Given the description of an element on the screen output the (x, y) to click on. 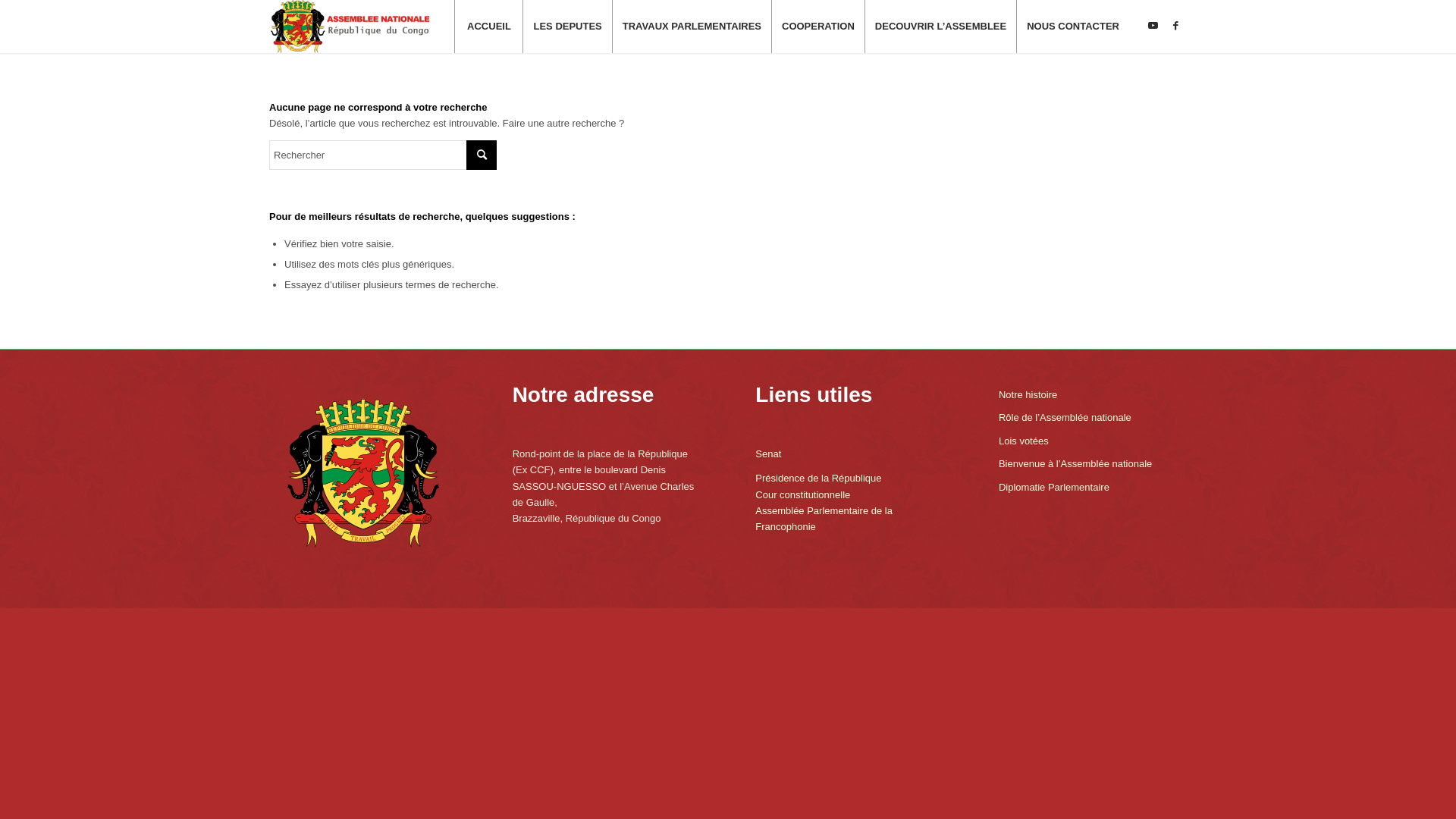
Youtube Element type: hover (1152, 25)
COOPERATION Element type: text (817, 26)
NOUS CONTACTER Element type: text (1072, 26)
Cour constitutionnelle Element type: text (802, 494)
ACCUEIL Element type: text (488, 26)
Senat Element type: text (768, 453)
LES DEPUTES Element type: text (566, 26)
Facebook Element type: hover (1175, 25)
Notre histoire Element type: text (1092, 394)
Diplomatie Parlementaire Element type: text (1092, 487)
TRAVAUX PARLEMENTAIRES Element type: text (691, 26)
LOGO_R Element type: hover (350, 26)
